Given the description of an element on the screen output the (x, y) to click on. 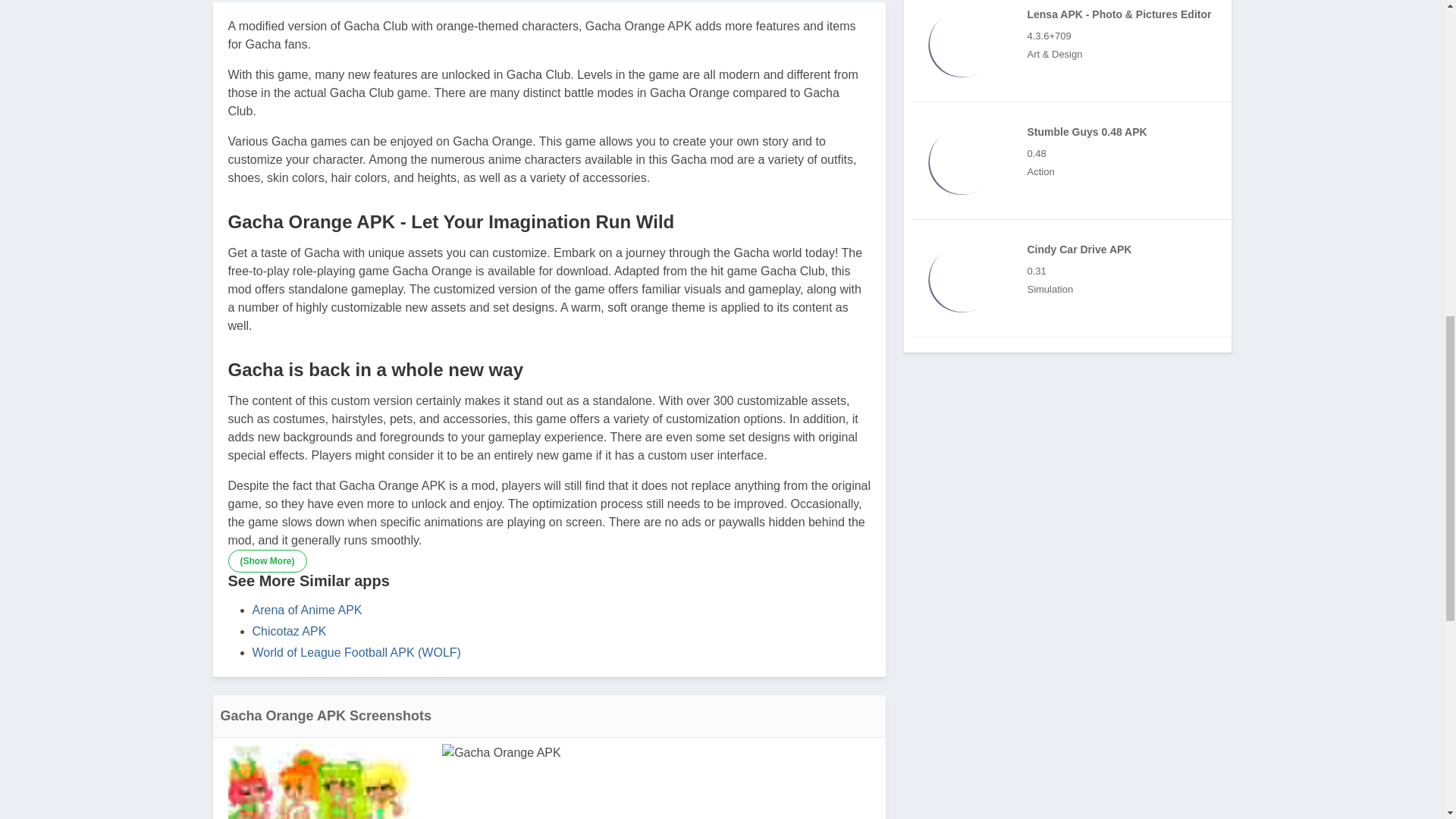
Arena of Anime APK (306, 609)
Chicotaz APK (288, 631)
